Given the description of an element on the screen output the (x, y) to click on. 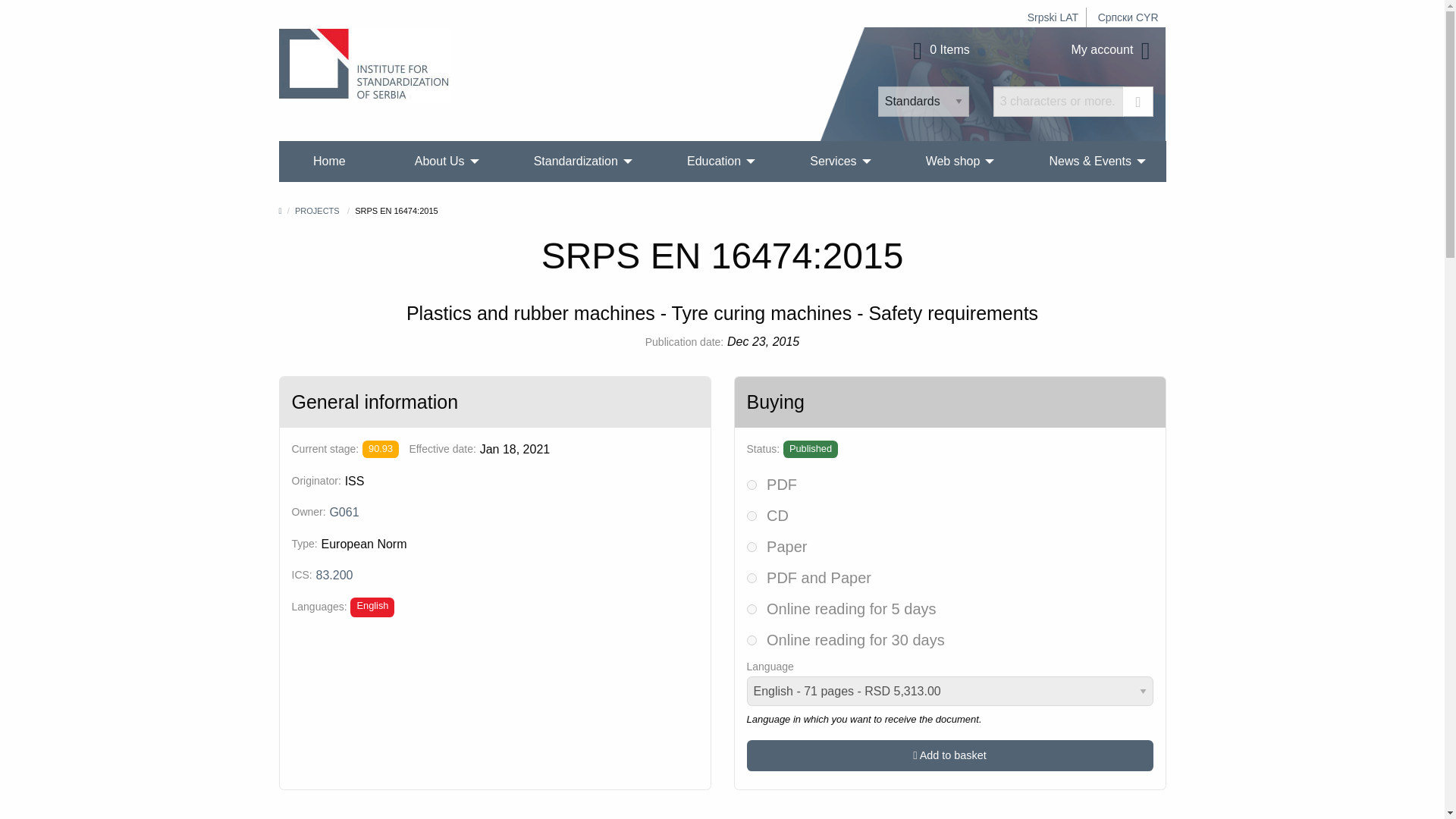
Shopping cart (938, 49)
Standard confirmed (380, 448)
0 Items (938, 49)
Srpski LAT (1052, 17)
My account (1112, 49)
1269 (750, 578)
Search (1138, 101)
2885 (750, 515)
2876 (750, 609)
1267 (750, 484)
